Given the description of an element on the screen output the (x, y) to click on. 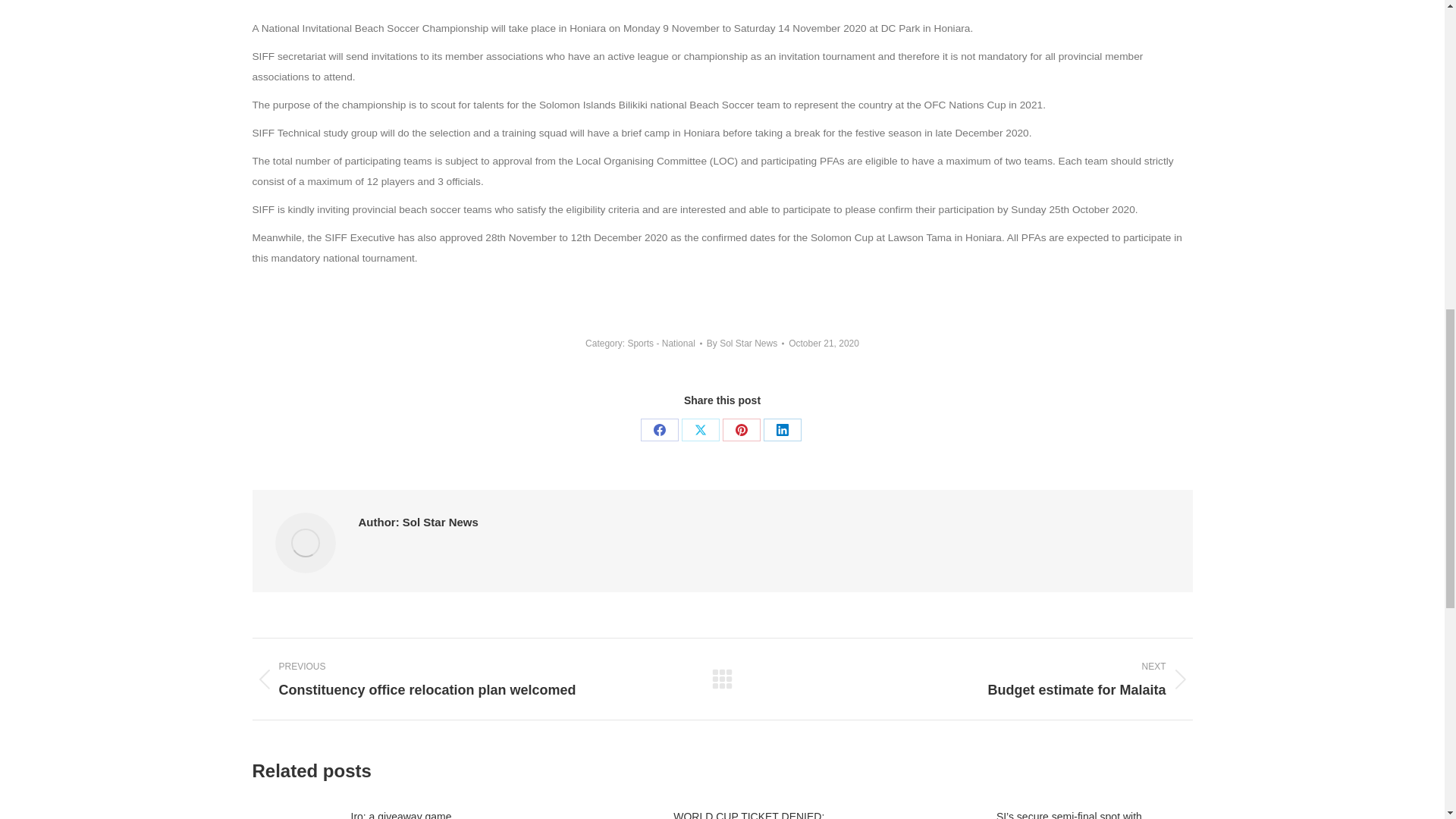
View all posts by Sol Star News (745, 343)
